Given the description of an element on the screen output the (x, y) to click on. 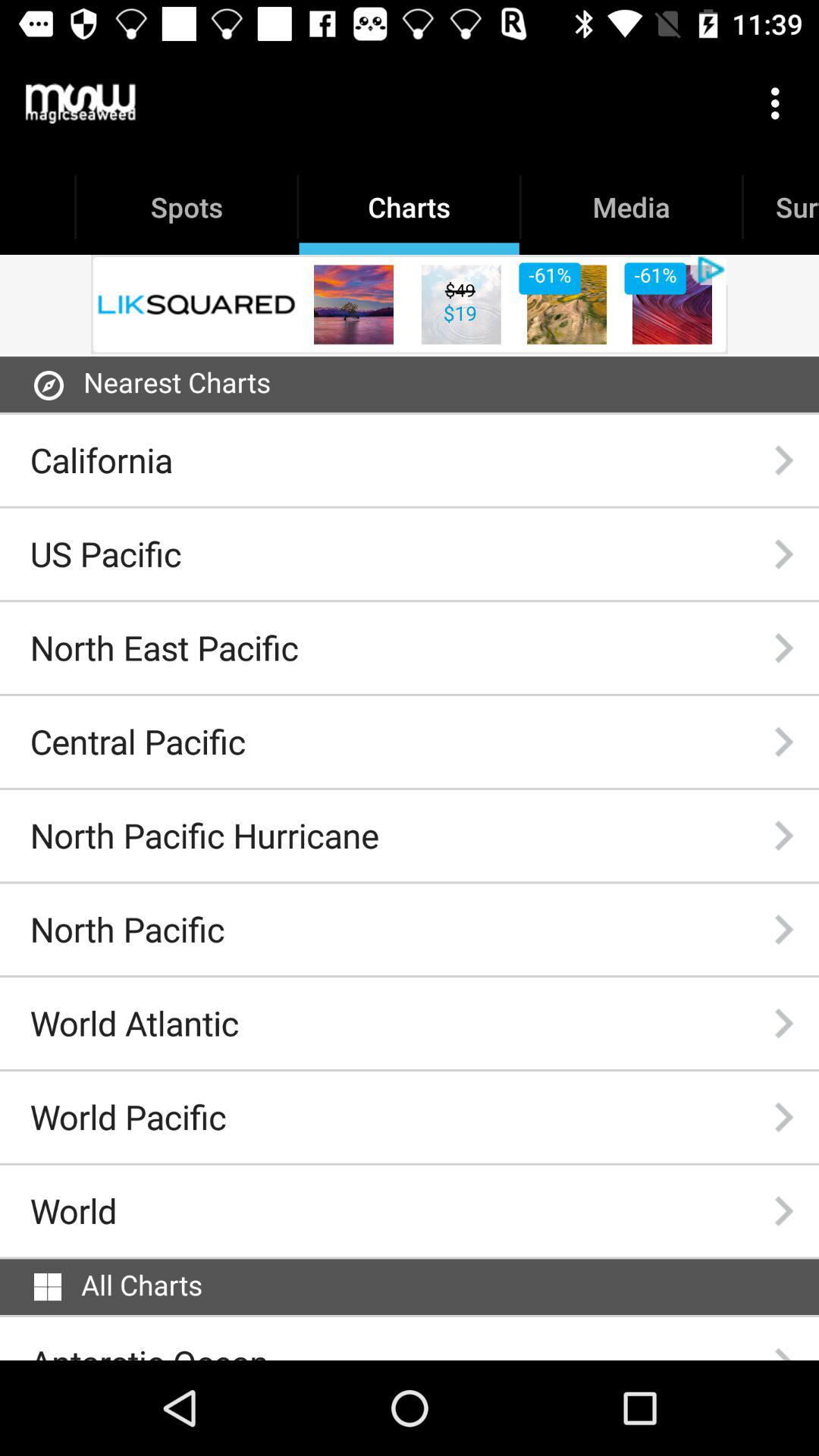
press the icon above spots (80, 103)
